Given the description of an element on the screen output the (x, y) to click on. 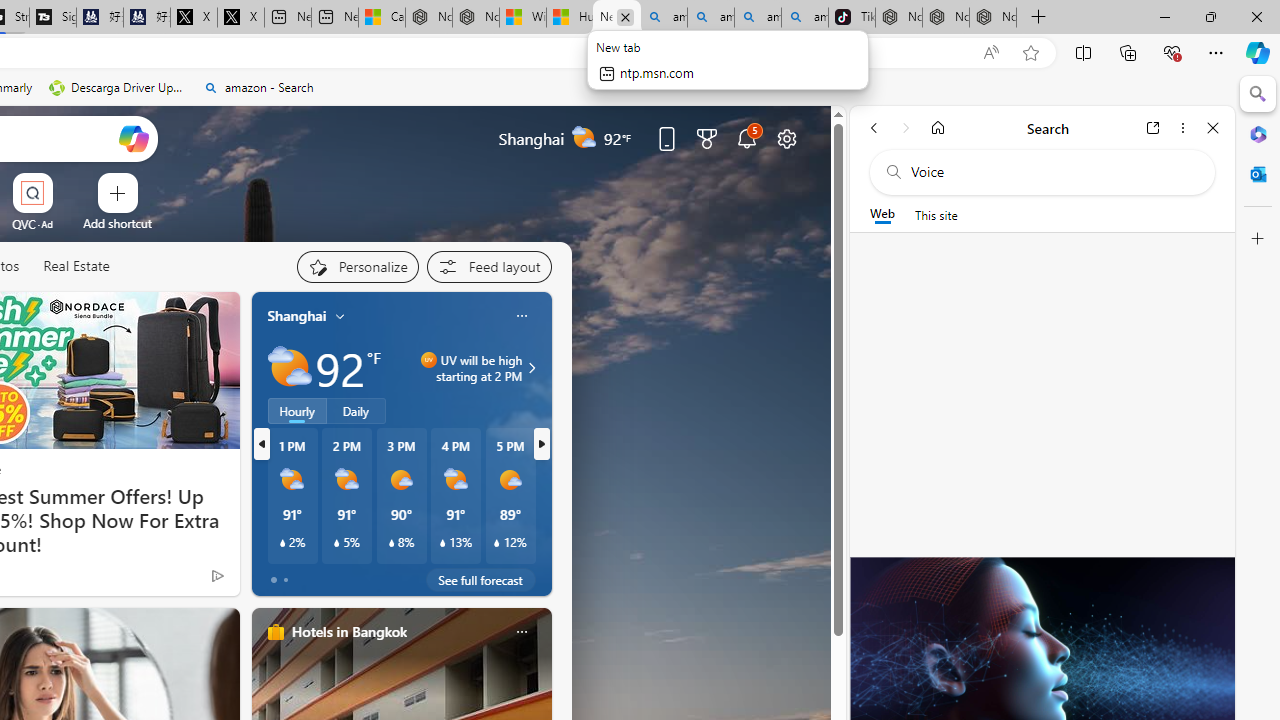
amazon - Search Images (805, 17)
See full forecast (480, 579)
Personalize your feed" (356, 266)
Class: weather-arrow-glyph (531, 367)
Feed settings (488, 266)
Partly sunny (289, 368)
Real Estate (76, 265)
Nordace - Siena Pro 15 Essential Set (993, 17)
